Given the description of an element on the screen output the (x, y) to click on. 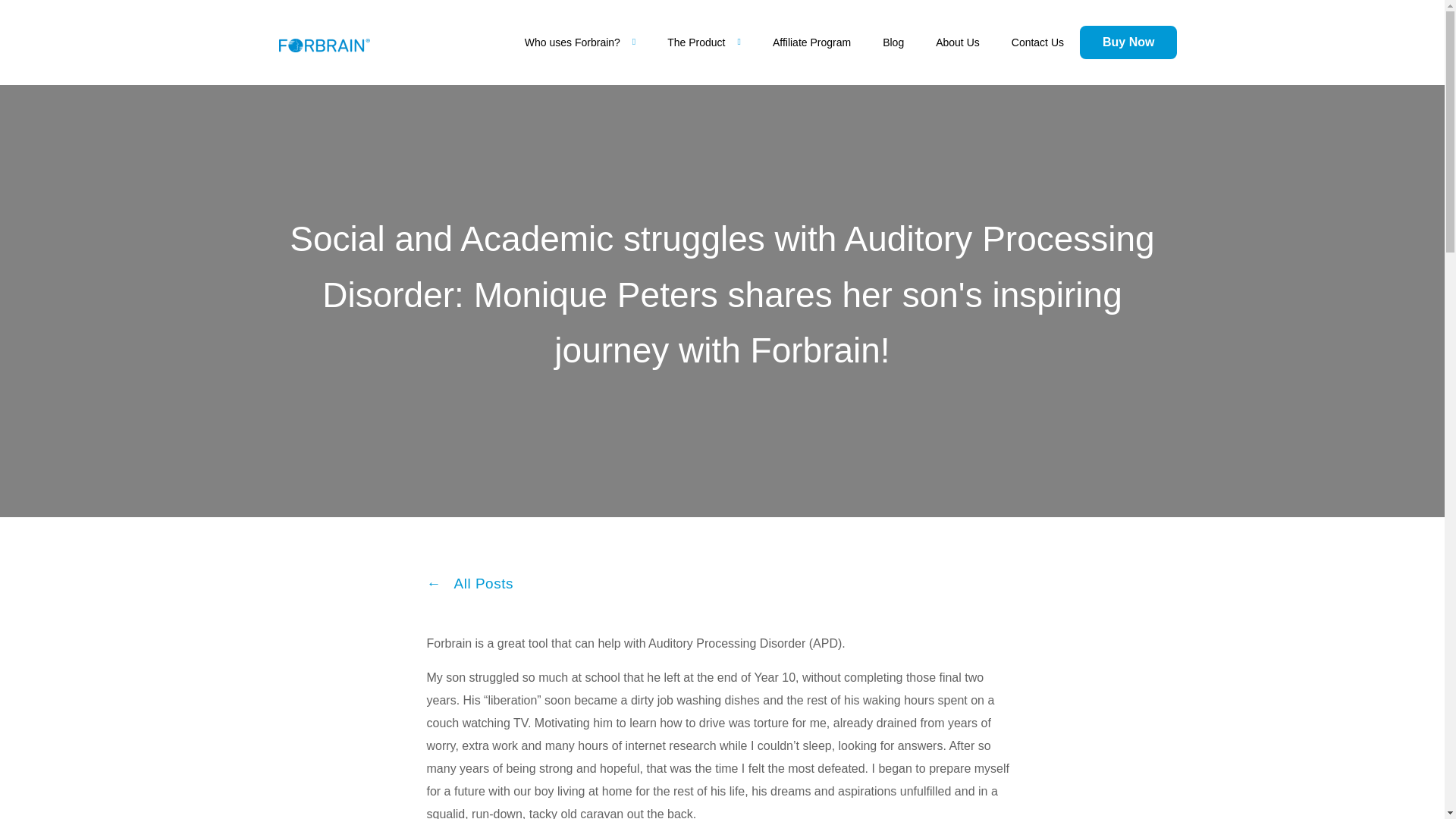
Blog (893, 42)
Who uses Forbrain? (579, 42)
The Product (703, 42)
Buy Now (1128, 41)
All Posts (469, 583)
Affiliate Program (811, 42)
About Us (957, 42)
Contact Us (1037, 42)
LOGO (324, 45)
